Given the description of an element on the screen output the (x, y) to click on. 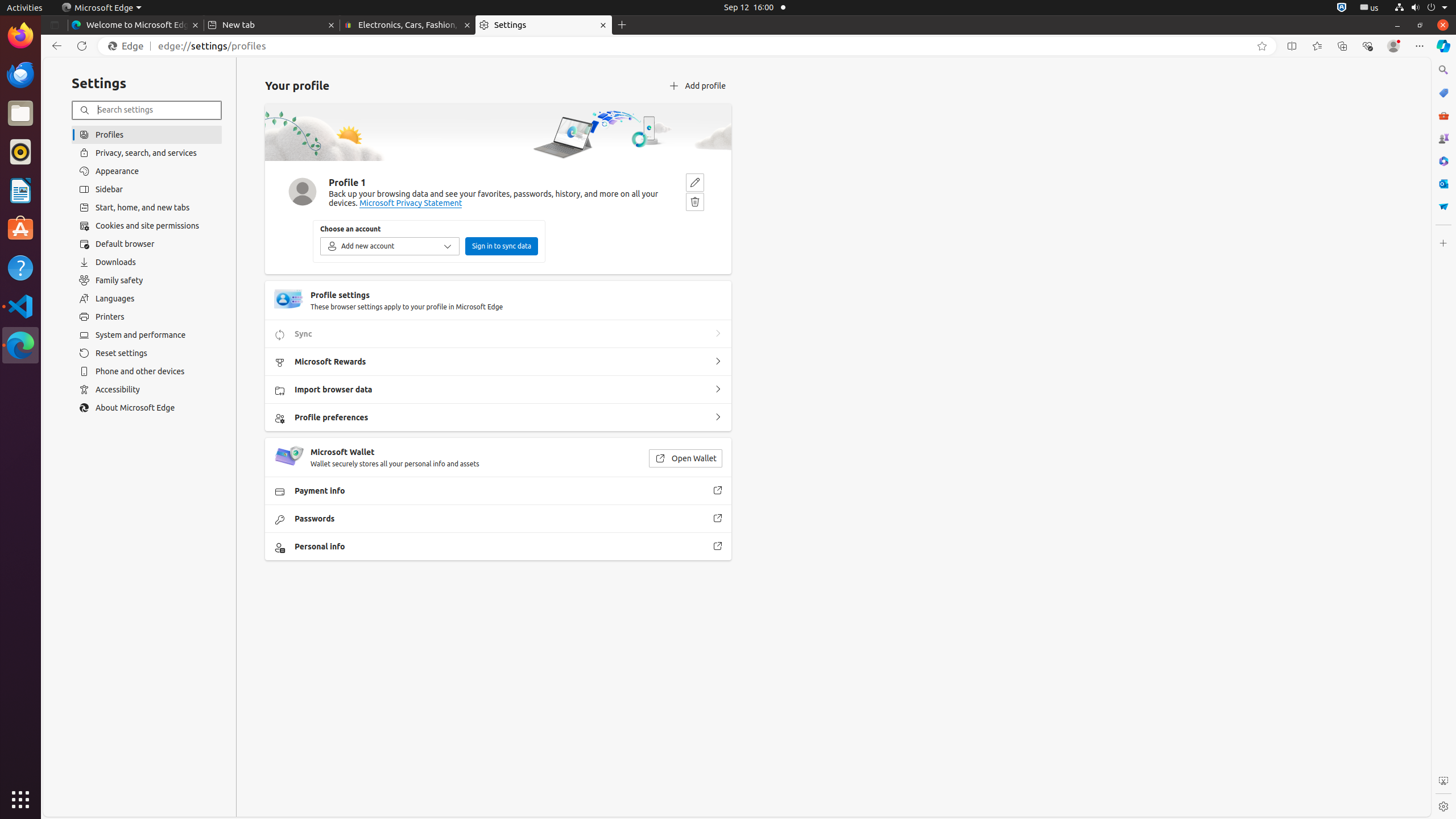
Phone and other devices Element type: tree-item (146, 371)
Electronics, Cars, Fashion, Collectibles & More | eBay Element type: page-tab (407, 25)
Settings Element type: push-button (1443, 806)
Family safety Element type: tree-item (146, 280)
Cookies and site permissions Element type: tree-item (146, 225)
